Given the description of an element on the screen output the (x, y) to click on. 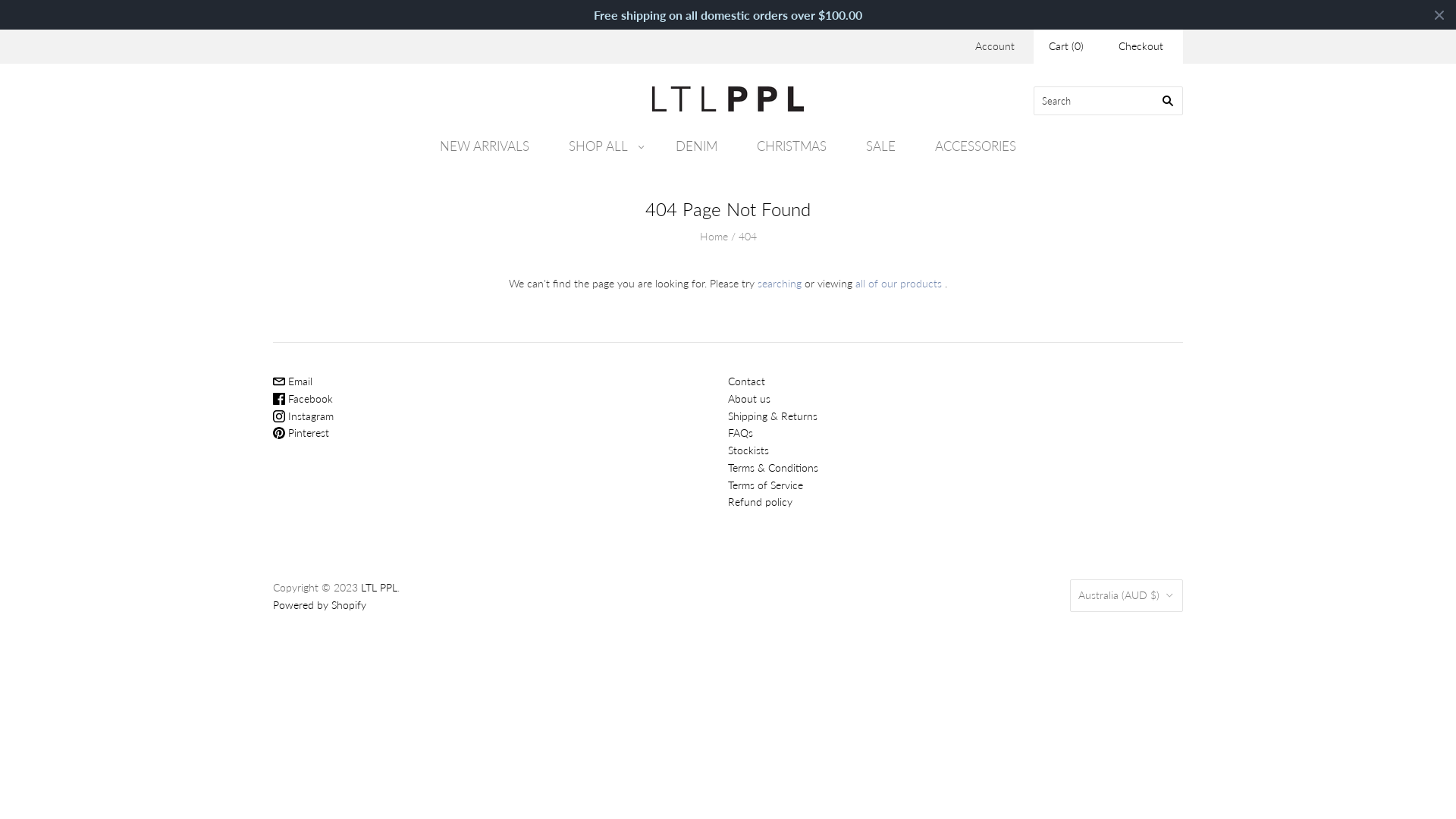
searching Element type: text (779, 282)
Australia (AUD $) Element type: text (1126, 595)
Stockists Element type: text (748, 449)
all of our products Element type: text (898, 282)
Pinterest Element type: text (301, 432)
NEW ARRIVALS Element type: text (484, 145)
About us Element type: text (749, 398)
Instagram Element type: text (303, 415)
Terms of Service Element type: text (765, 484)
SALE Element type: text (880, 145)
Account Element type: text (994, 45)
Refund policy Element type: text (760, 501)
Facebook Element type: text (302, 398)
Checkout Element type: text (1140, 46)
Shipping & Returns Element type: text (772, 415)
Cart (0) Element type: text (1065, 46)
Email Element type: text (292, 380)
Home Element type: text (713, 235)
Terms & Conditions Element type: text (773, 467)
CHRISTMAS Element type: text (791, 145)
LTL PPL Element type: text (378, 586)
Contact Element type: text (746, 380)
DENIM Element type: text (696, 145)
ACCESSORIES Element type: text (975, 145)
FAQs Element type: text (740, 432)
Powered by Shopify Element type: text (319, 604)
